Given the description of an element on the screen output the (x, y) to click on. 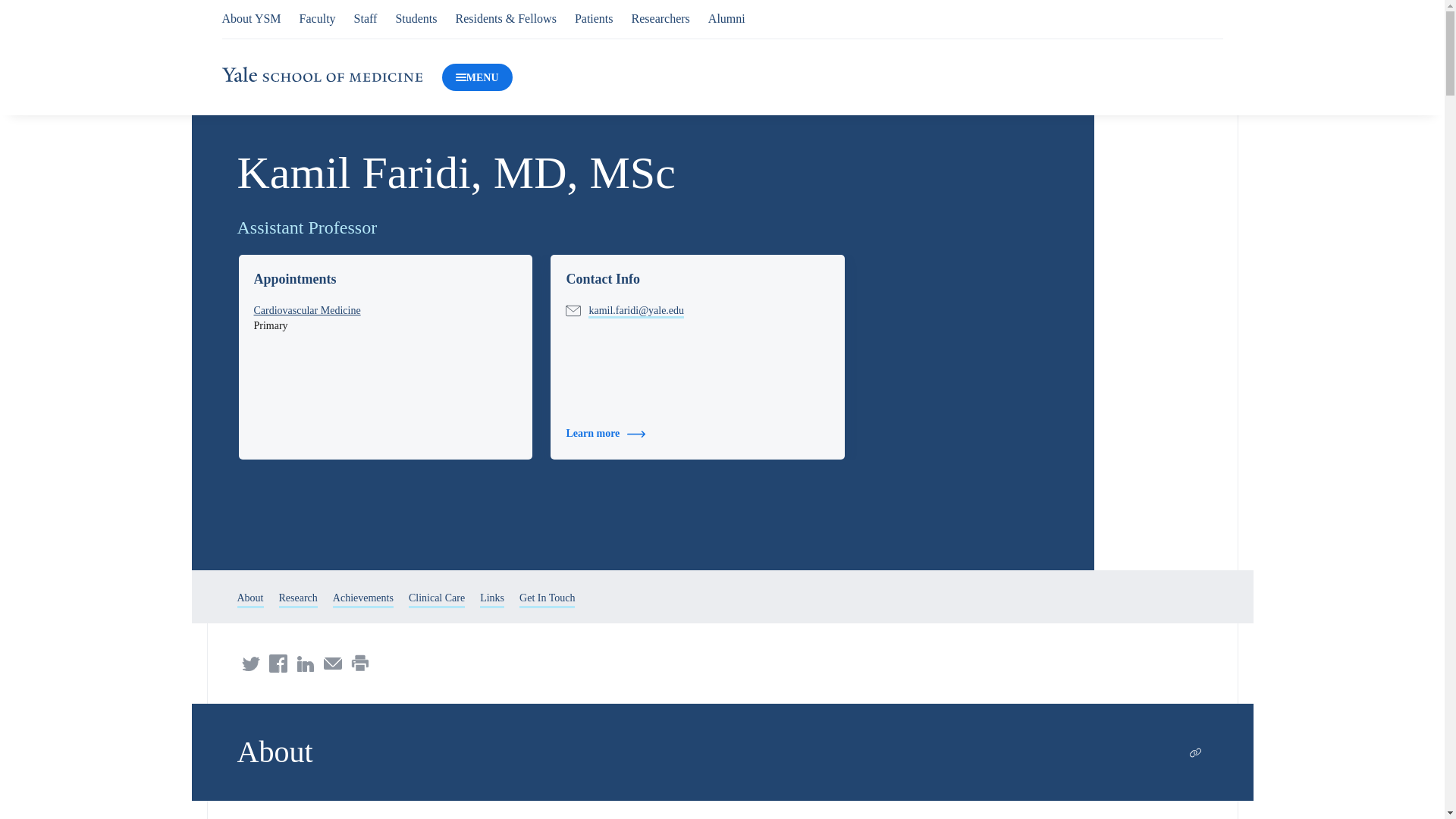
Yale School of Medicine (321, 76)
About YSM (251, 18)
Faculty (317, 18)
Patients (593, 18)
MENU (477, 76)
Students (415, 18)
Alumni (726, 18)
Yale School of Medicine (321, 73)
Staff (365, 18)
Researchers (660, 18)
